Given the description of an element on the screen output the (x, y) to click on. 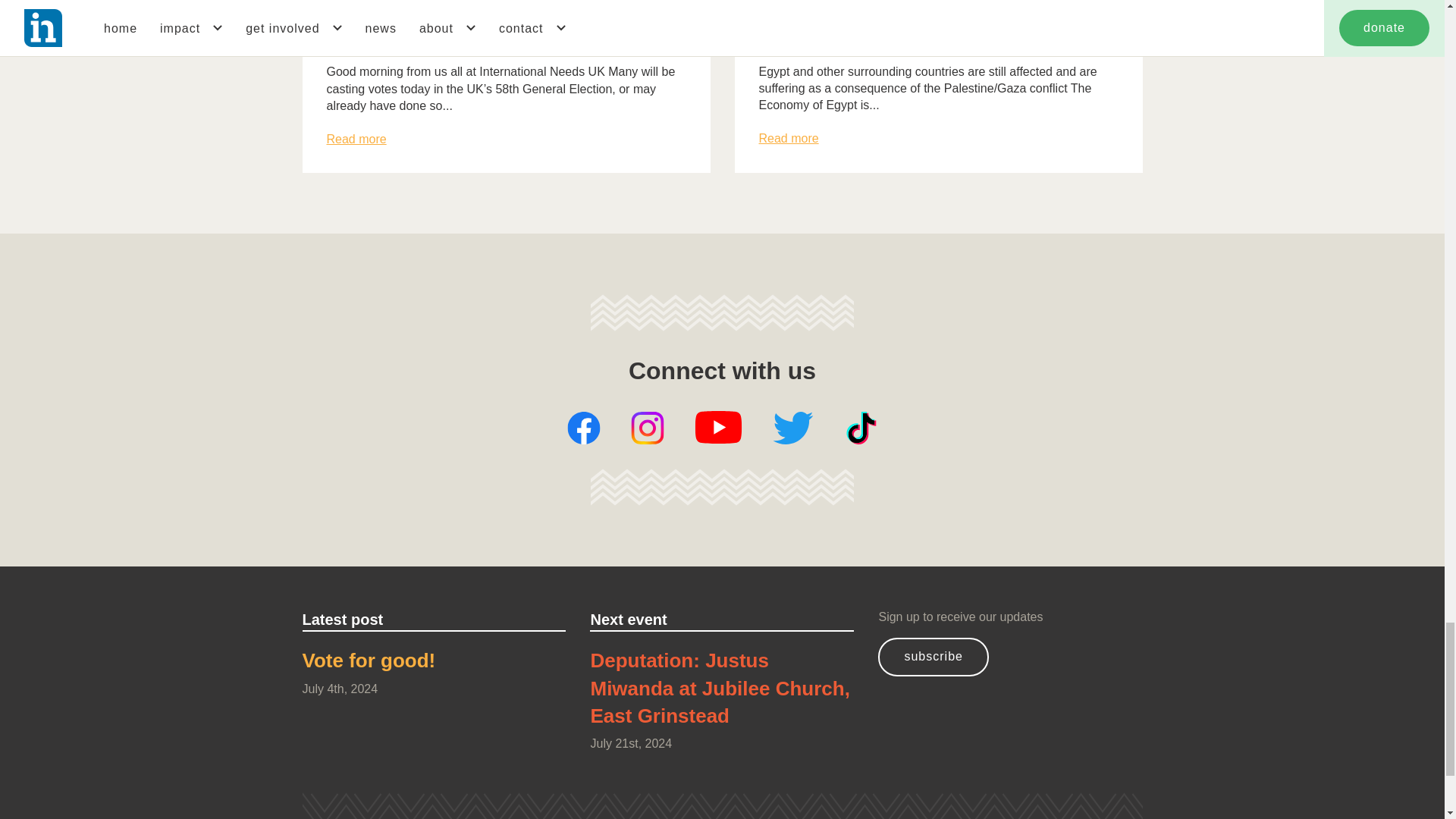
July 4th, 2024 (433, 688)
Vote for good! (433, 663)
Deputation: Justus Miwanda at Jubilee Church, East Grinstead (721, 691)
July 21st, 2024 (721, 743)
subscribe (932, 657)
